Given the description of an element on the screen output the (x, y) to click on. 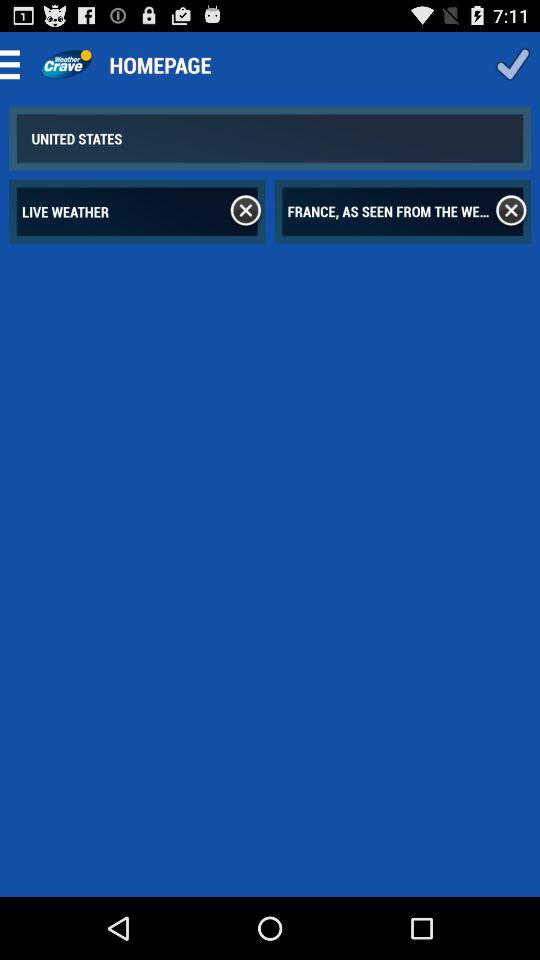
go to homepage (65, 64)
